Given the description of an element on the screen output the (x, y) to click on. 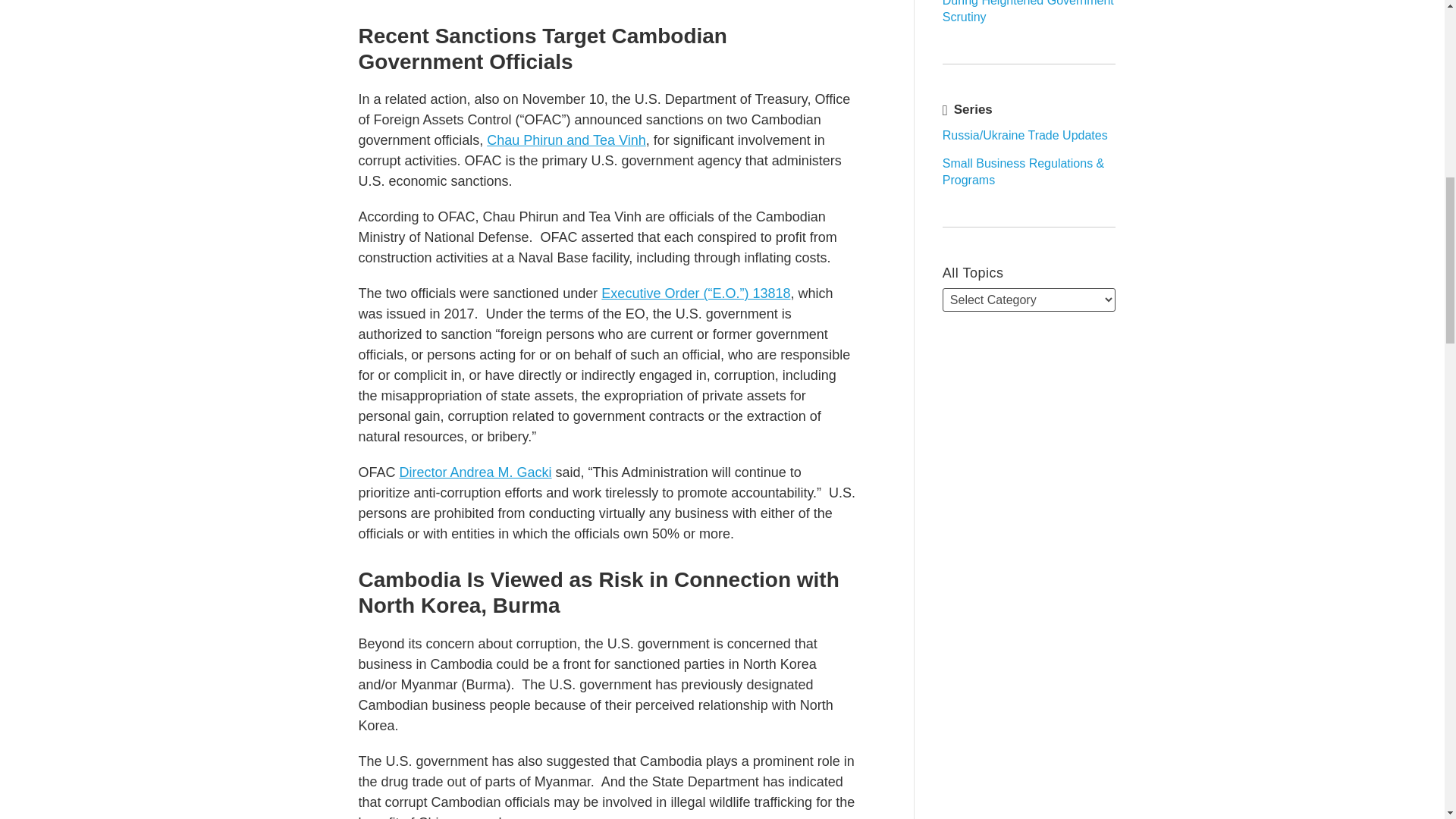
Director Andrea M. Gacki (474, 472)
Chau Phirun and Tea Vinh (566, 140)
